Given the description of an element on the screen output the (x, y) to click on. 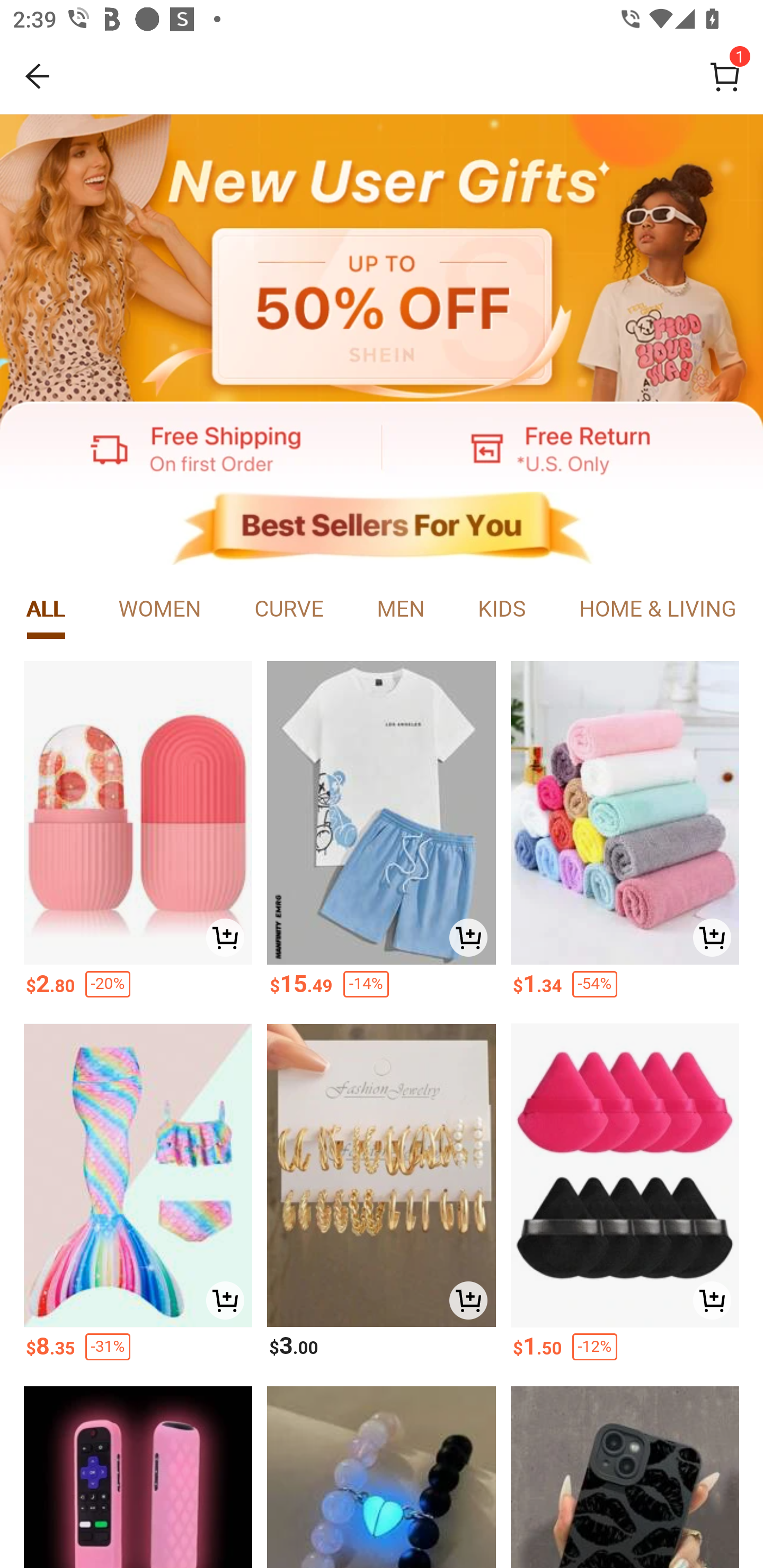
BACK (38, 75)
Cart 1 (724, 75)
javascript:; (381, 258)
javascript:; (190, 446)
javascript:; (572, 446)
javascript:; (381, 528)
tab item (46, 609)
tab item (159, 609)
tab item (288, 609)
tab item (400, 609)
tab item (501, 609)
tab item (657, 609)
1pc Silicone Facial Massage Ice Tray $2.80 -20% (137, 834)
1pc Silicone Facial Massage Ice Tray (137, 812)
$2.80 -20% (137, 989)
$15.49 -14% (381, 989)
$1.34 -54% (625, 989)
$8.35 -31% (137, 1352)
$3.00 (381, 1352)
$1.50 -12% (625, 1352)
